Given the description of an element on the screen output the (x, y) to click on. 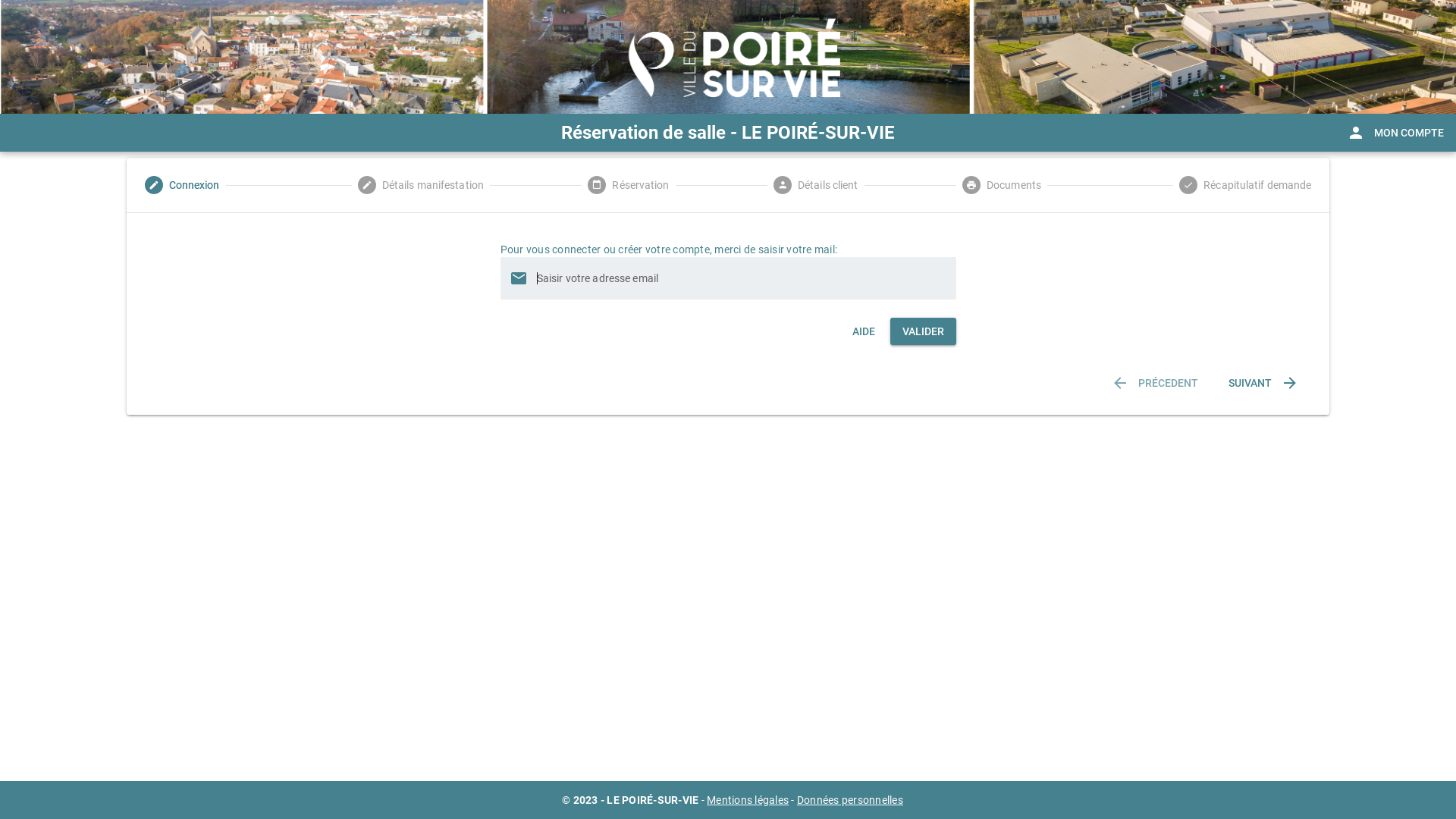
AIDE Element type: text (863, 331)
VALIDER Element type: text (923, 331)
SUIVANT Element type: text (1263, 382)
